Given the description of an element on the screen output the (x, y) to click on. 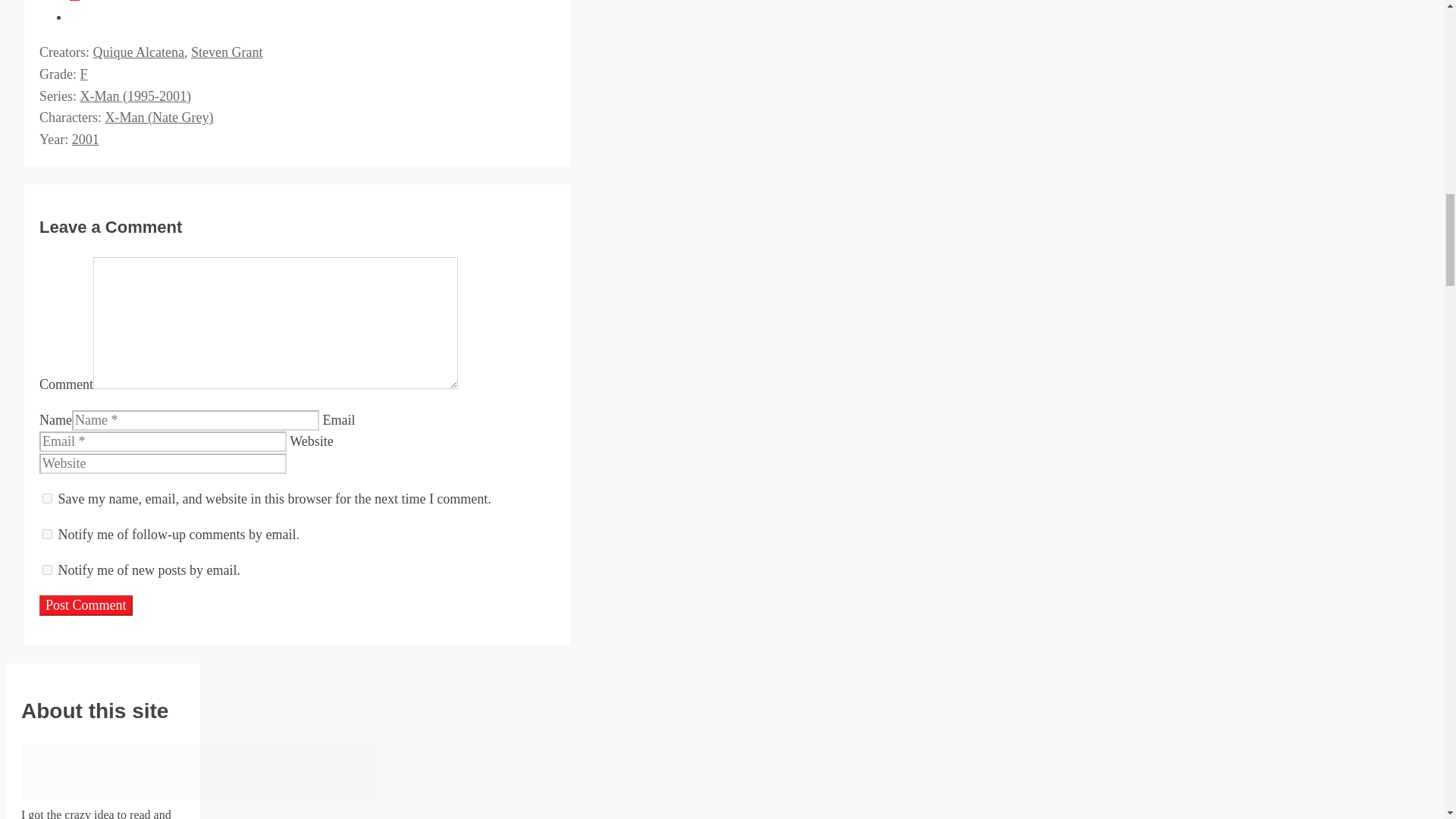
Post Comment (85, 605)
subscribe (47, 533)
Quique Alcatena (138, 52)
yes (47, 498)
Post Comment (85, 605)
2001 (85, 139)
Steven Grant (226, 52)
subscribe (47, 569)
